Given the description of an element on the screen output the (x, y) to click on. 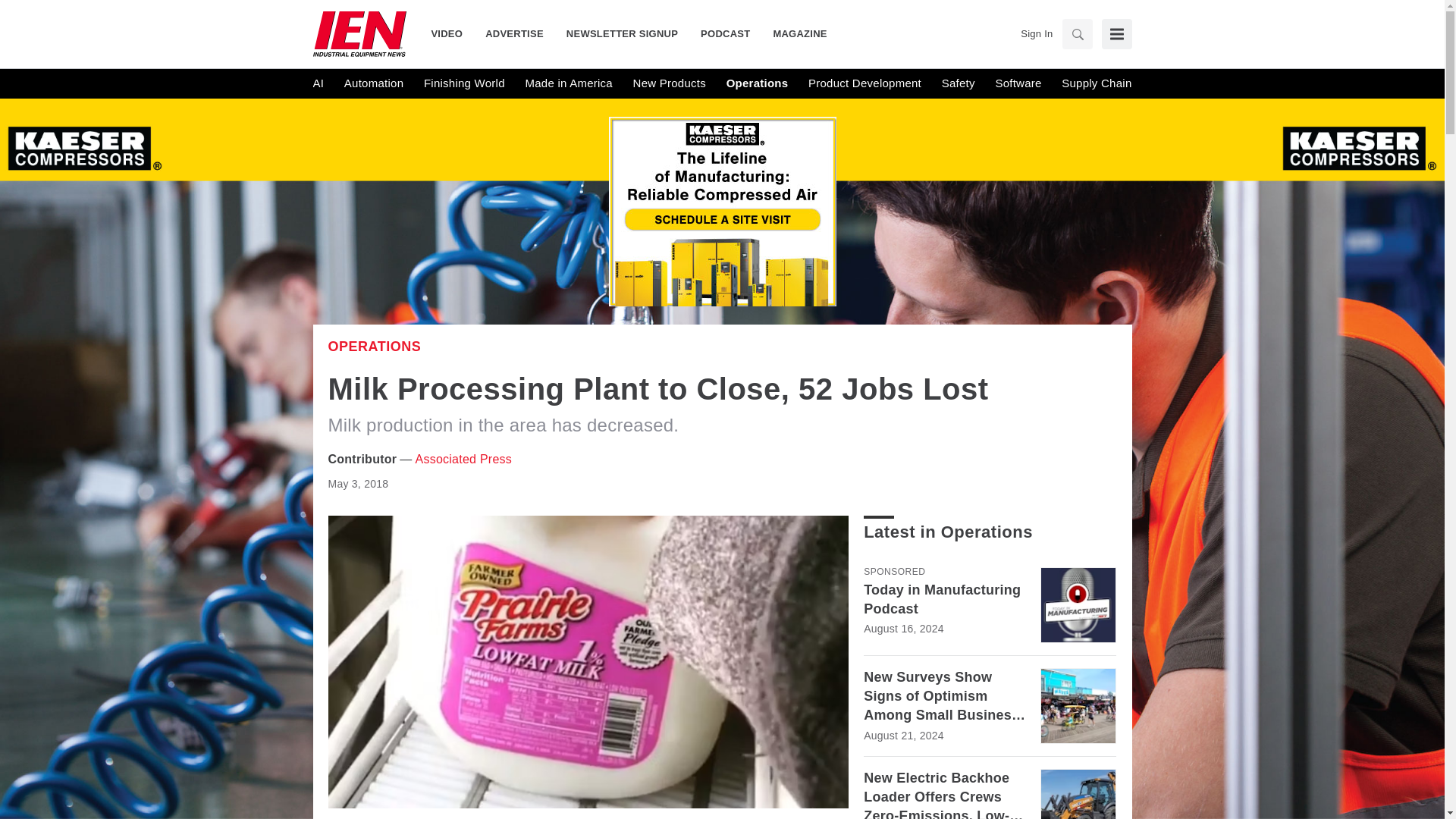
Operations (373, 346)
MAGAZINE (794, 33)
Made in America (567, 83)
VIDEO (452, 33)
NEWSLETTER SIGNUP (621, 33)
Sign In (1036, 33)
Supply Chain (1096, 83)
ADVERTISE (514, 33)
Product Development (864, 83)
New Products (669, 83)
